Given the description of an element on the screen output the (x, y) to click on. 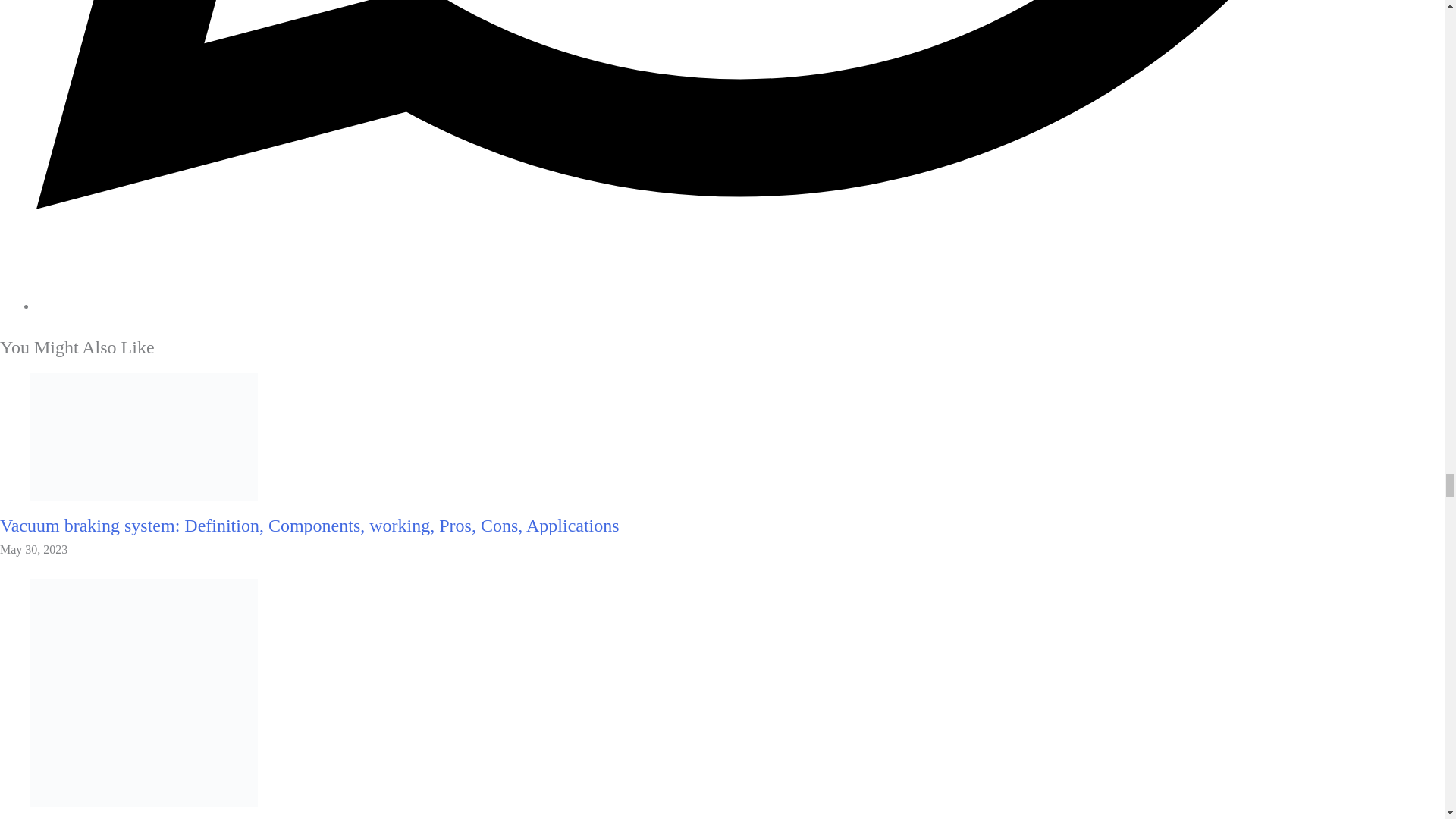
Difference between primal and dual LPP? 3 (143, 692)
